Given the description of an element on the screen output the (x, y) to click on. 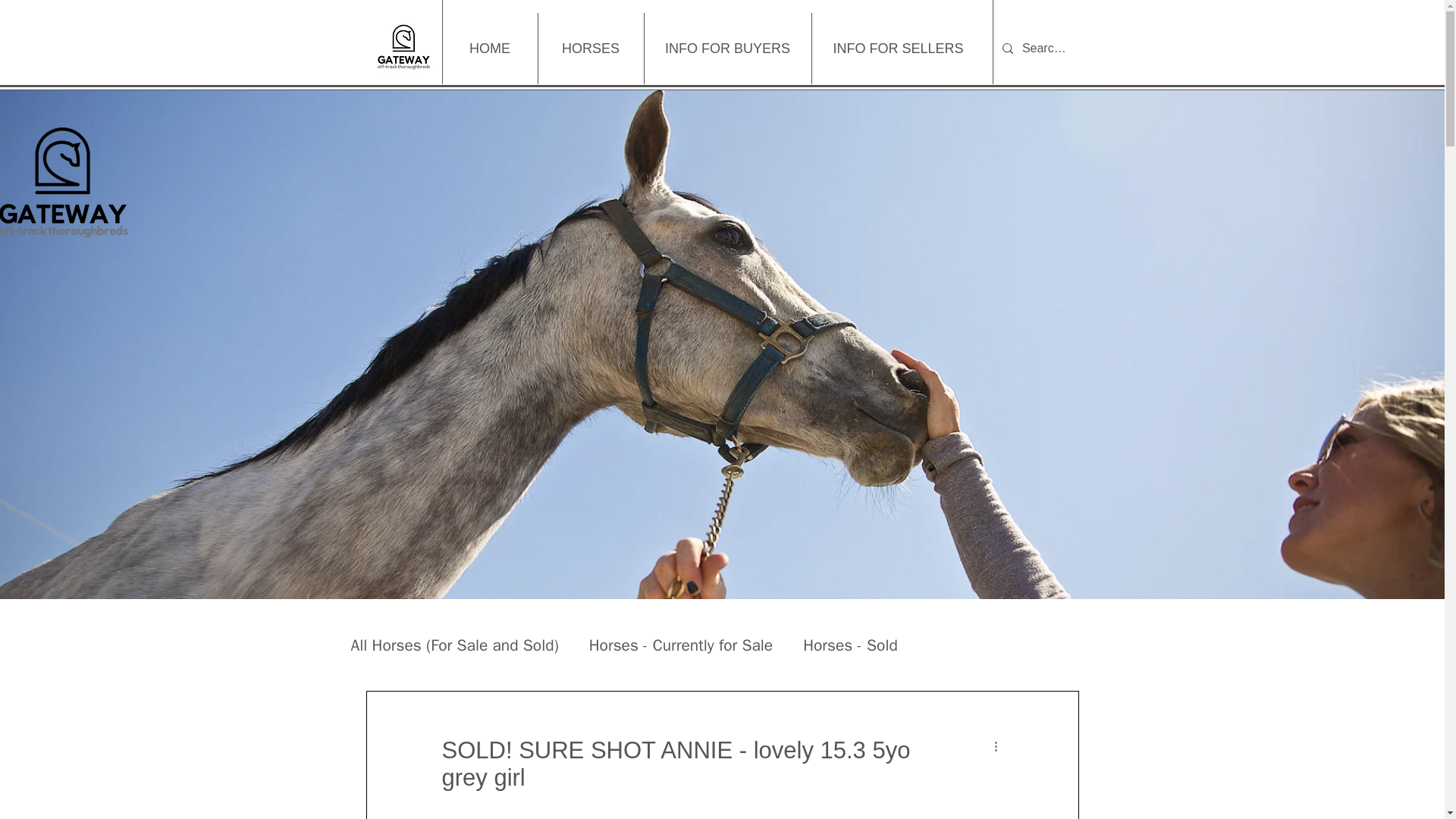
Horses - Currently for Sale (681, 645)
HOME (489, 48)
INFO FOR BUYERS (726, 48)
HORSES (590, 48)
INFO FOR SELLERS (897, 48)
Horses - Sold (850, 645)
